Given the description of an element on the screen output the (x, y) to click on. 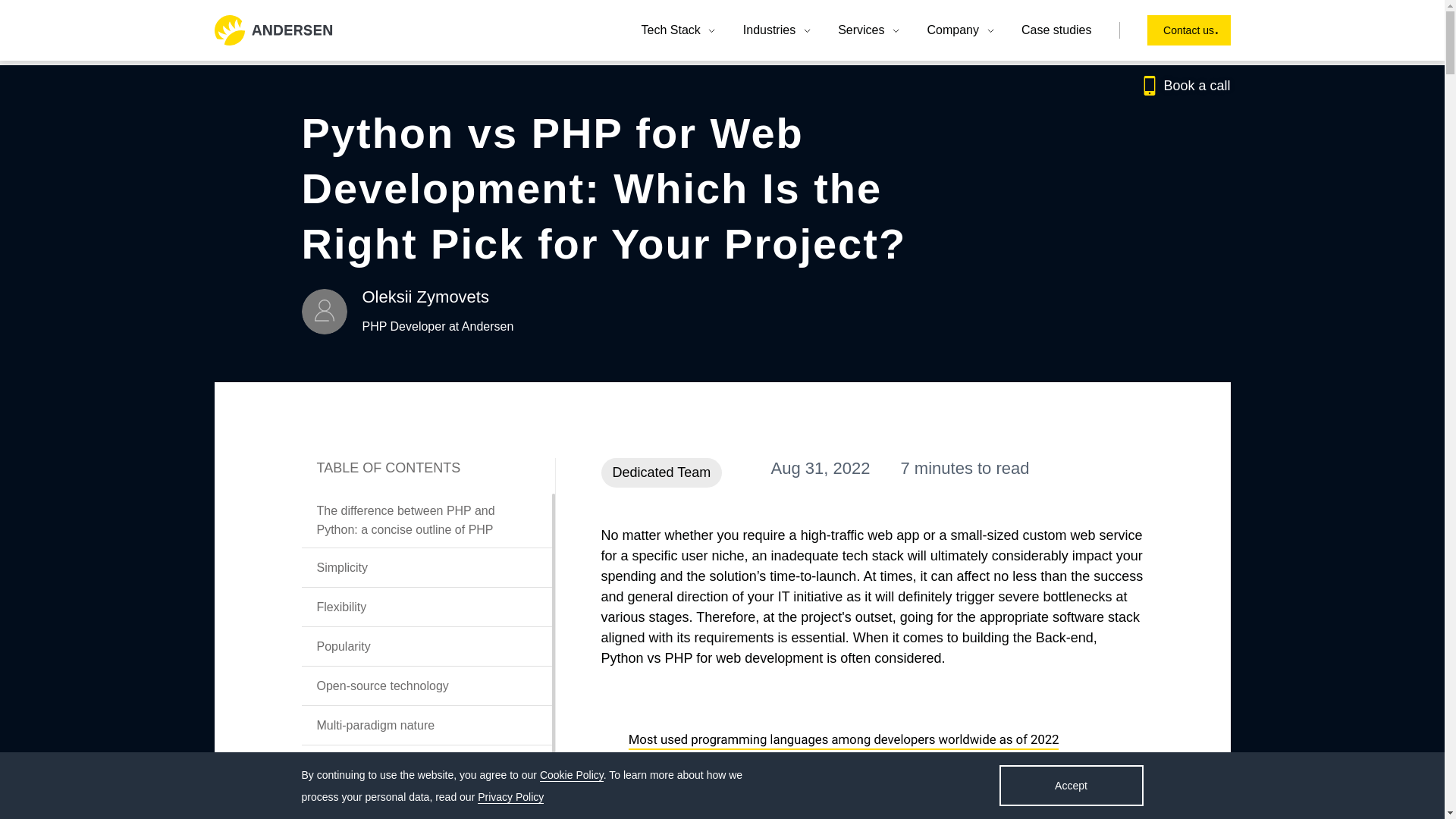
Tech Stack (679, 30)
Industries (776, 30)
Services (868, 30)
